Given the description of an element on the screen output the (x, y) to click on. 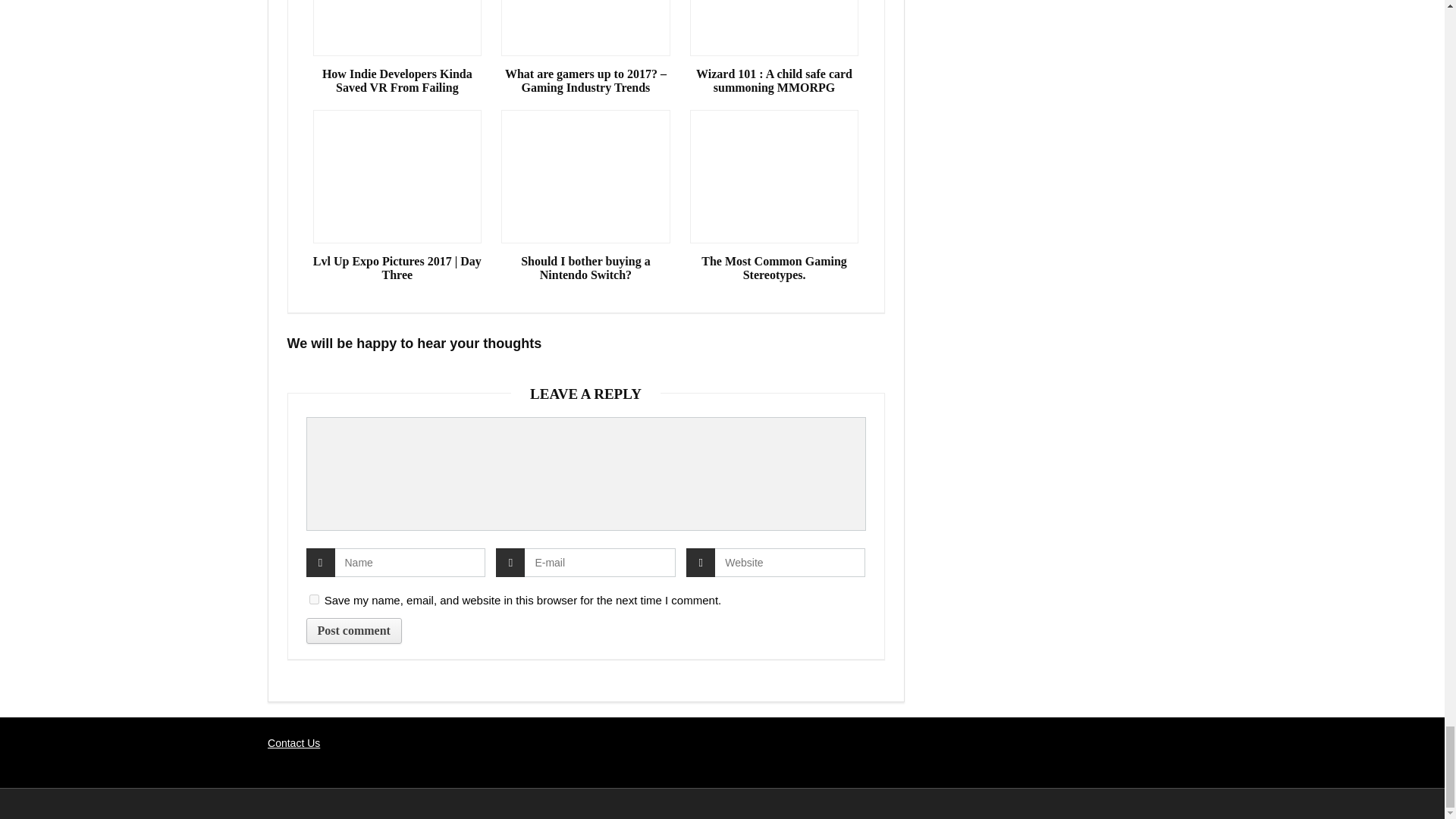
The Most Common Gaming Stereotypes. (774, 267)
Should I bother buying a Nintendo Switch? (584, 267)
Wizard 101 : A child safe card summoning MMORPG (774, 81)
Post comment (353, 630)
Should I bother buying a Nintendo Switch? (584, 267)
The Most Common Gaming Stereotypes. (774, 267)
How Indie Developers Kinda Saved VR From Failing (397, 81)
How Indie Developers Kinda Saved VR From Failing (397, 81)
Post comment (353, 630)
Wizard 101 : A child safe card summoning MMORPG (774, 81)
yes (313, 599)
